Given the description of an element on the screen output the (x, y) to click on. 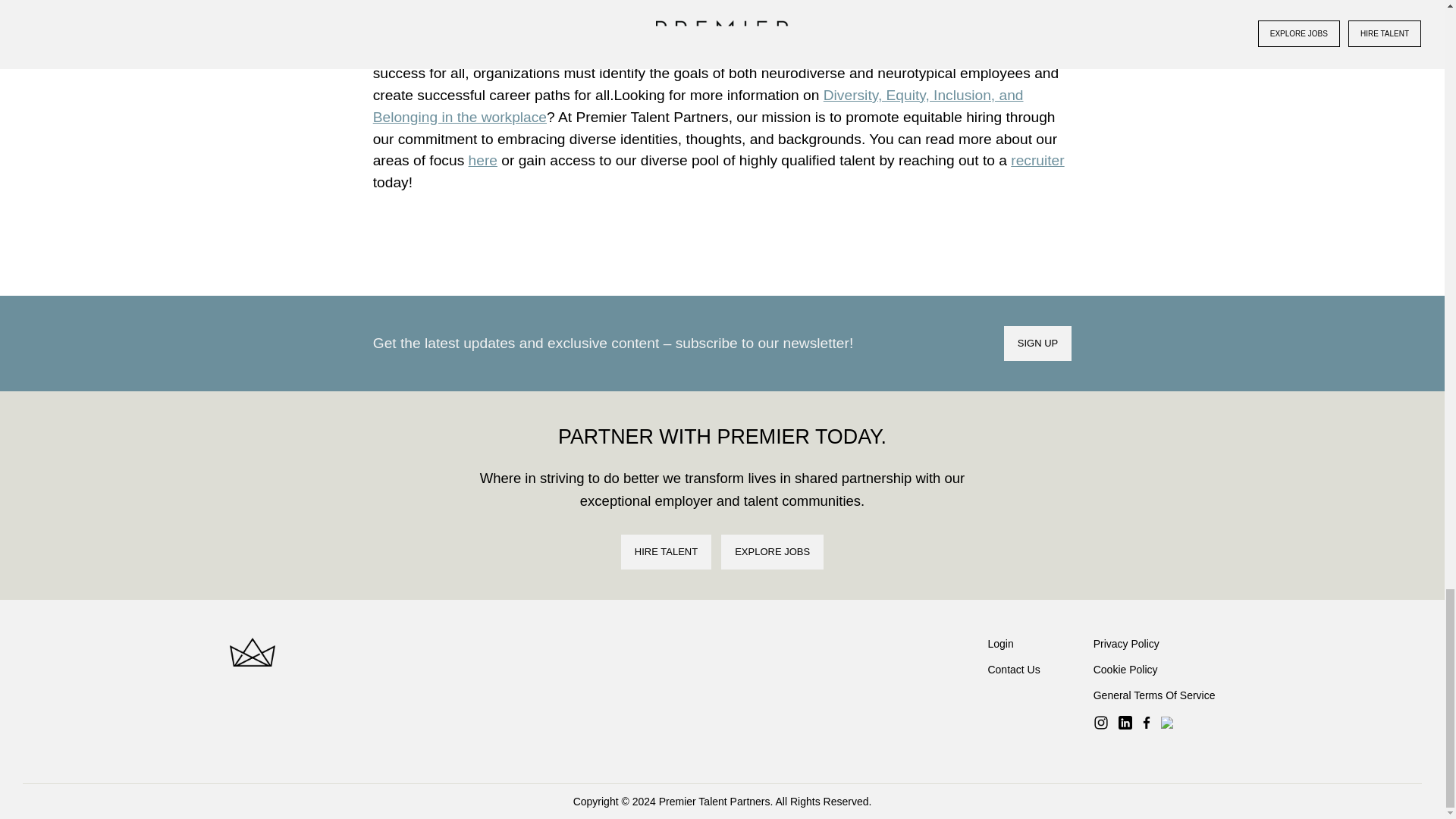
HIRE TALENT (666, 551)
Contact Us (1013, 669)
SIGN UP (1037, 343)
Diversity, Equity, Inclusion, and Belonging in the workplace (697, 105)
Login (1000, 644)
Privacy Policy (1125, 644)
recruiter (1037, 160)
here (482, 160)
EXPLORE JOBS (772, 551)
General Terms Of Service (1154, 695)
